Given the description of an element on the screen output the (x, y) to click on. 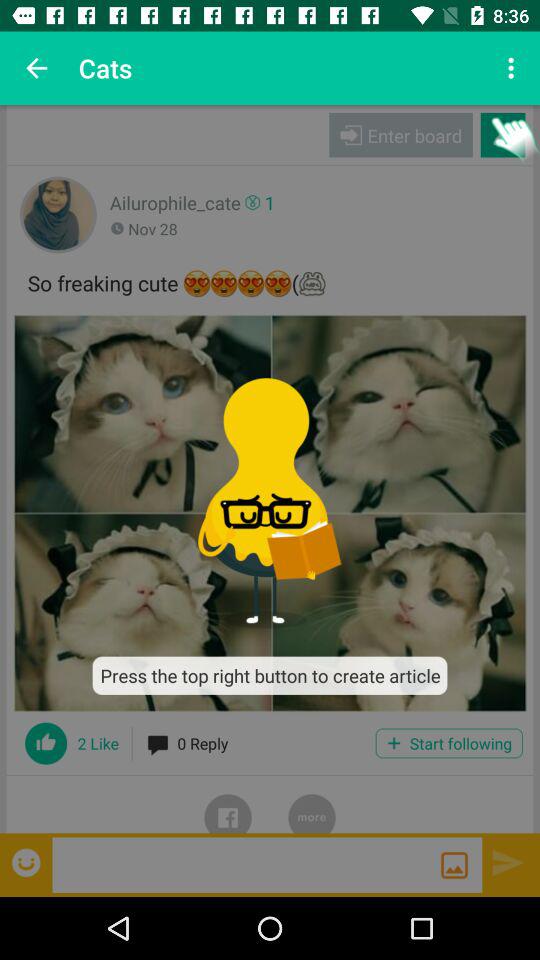
select image (269, 513)
